Given the description of an element on the screen output the (x, y) to click on. 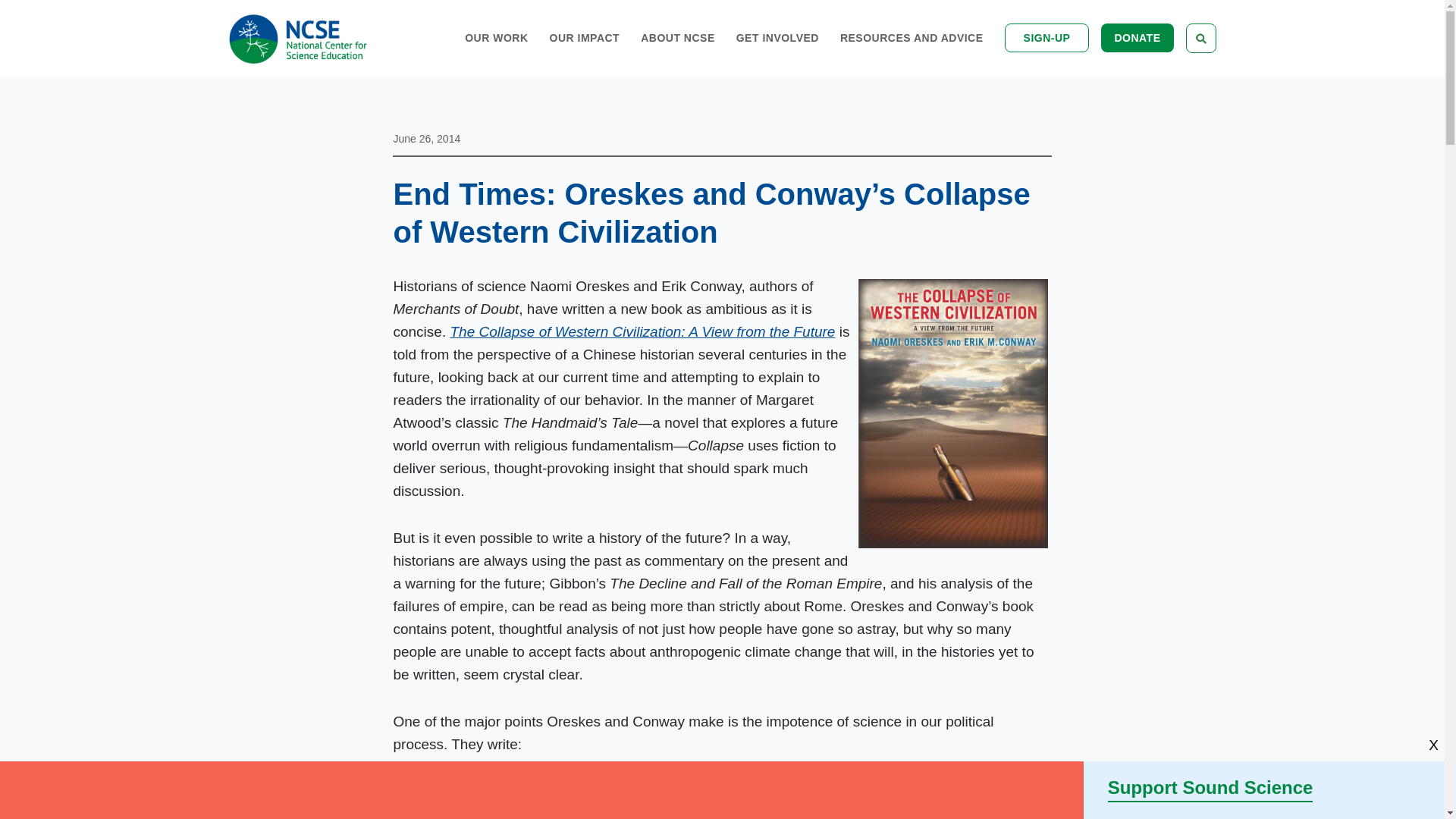
ABOUT NCSE (677, 53)
Search (1185, 102)
SIGN-UP (1046, 37)
OUR IMPACT (585, 53)
GET INVOLVED (777, 53)
DONATE (1136, 37)
